Given the description of an element on the screen output the (x, y) to click on. 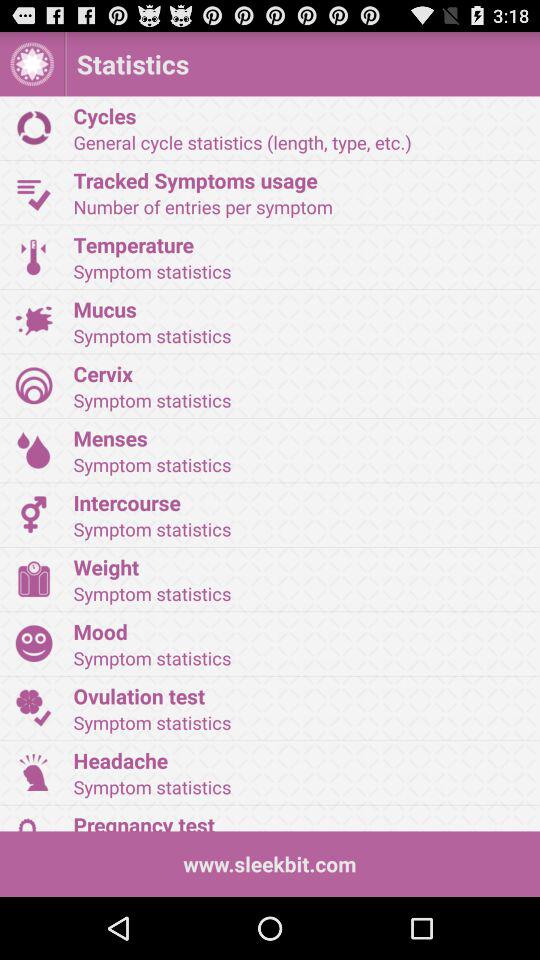
jump to the cervix app (299, 373)
